Given the description of an element on the screen output the (x, y) to click on. 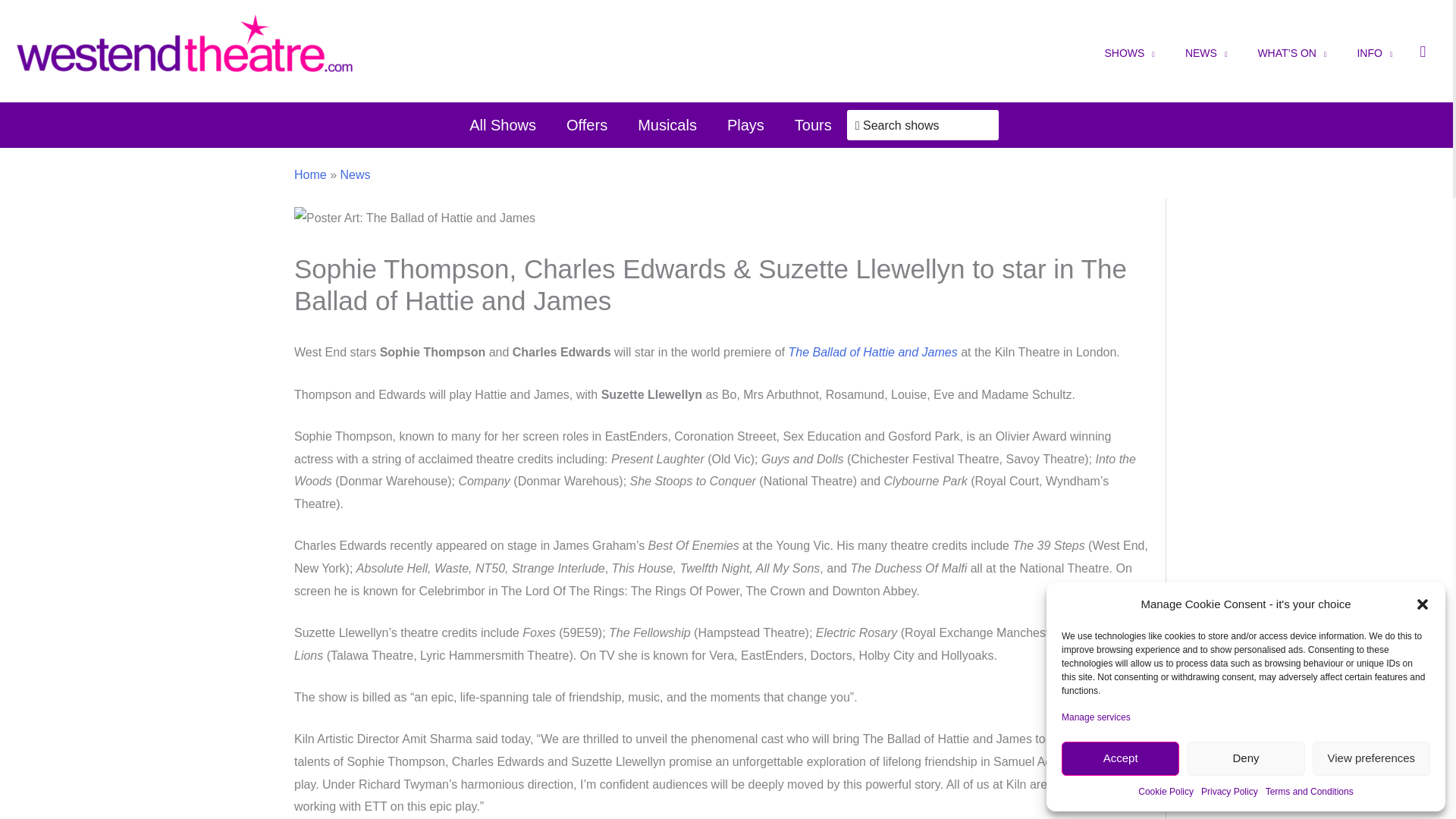
SHOWS (1129, 50)
Accept (1120, 758)
Privacy Policy (1229, 791)
Manage services (1096, 717)
NEWS (1206, 50)
View preferences (1371, 758)
News (354, 174)
Home (310, 174)
Terms and Conditions (1309, 791)
Cookie Policy (1165, 791)
